Given the description of an element on the screen output the (x, y) to click on. 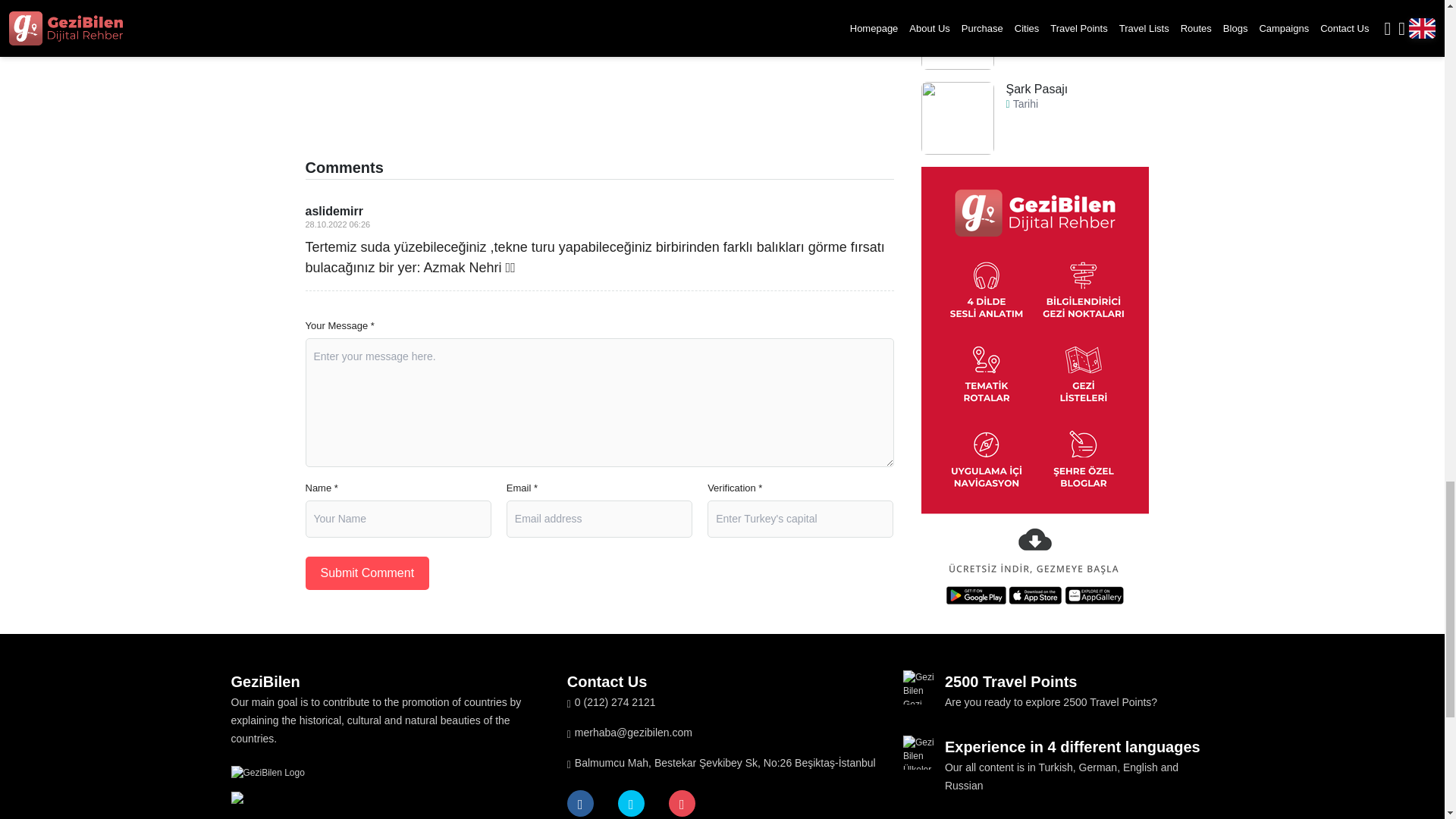
GeziBilen (385, 772)
GeziBilen Google Play (385, 805)
Submit Comment (366, 572)
